Given the description of an element on the screen output the (x, y) to click on. 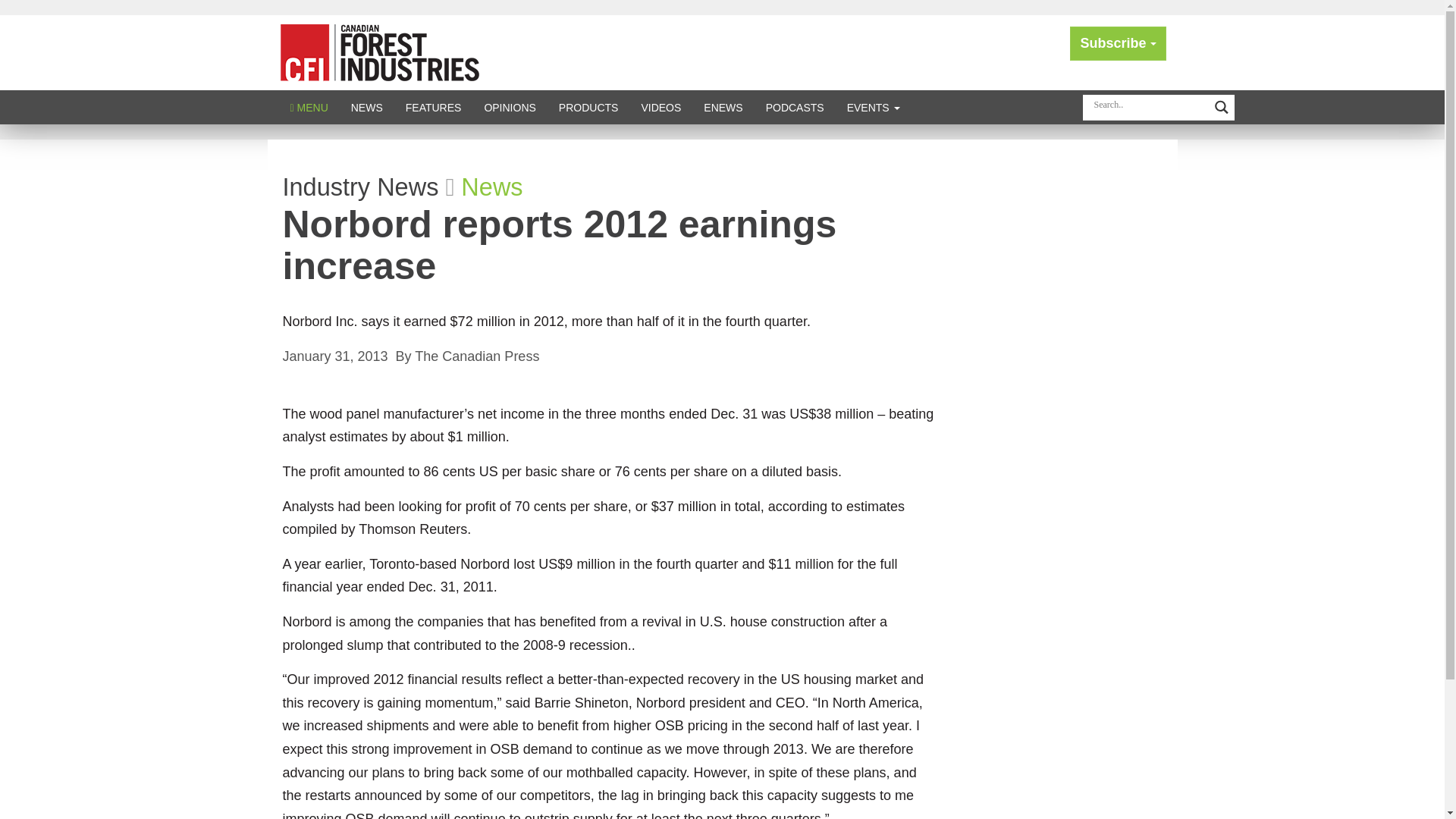
Wood Business (379, 51)
PRODUCTS (588, 107)
MENU (309, 107)
VIDEOS (660, 107)
OPINIONS (509, 107)
FEATURES (433, 107)
NEWS (366, 107)
ENEWS (723, 107)
Click to show site navigation (309, 107)
PODCASTS (794, 107)
